Given the description of an element on the screen output the (x, y) to click on. 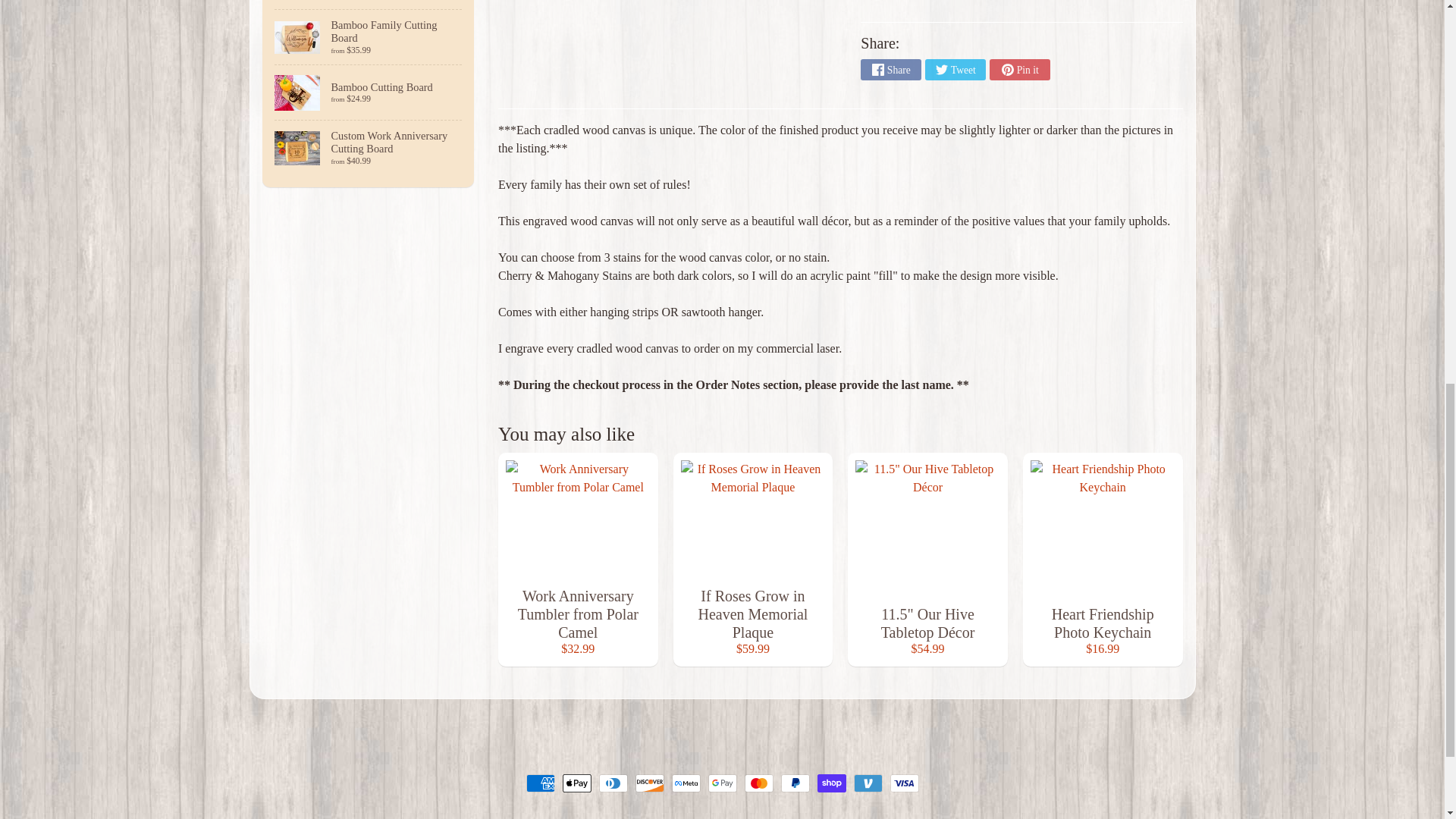
Diners Club (612, 782)
American Express (539, 782)
Bamboo Family Cutting Board (369, 36)
PayPal (794, 782)
Visa (903, 782)
Shop Pay (830, 782)
Discover (648, 782)
Meta Pay (685, 782)
Tweet on Twitter (954, 69)
Laser Cut Anniversary Bamboo Cutting Board (369, 4)
